Given the description of an element on the screen output the (x, y) to click on. 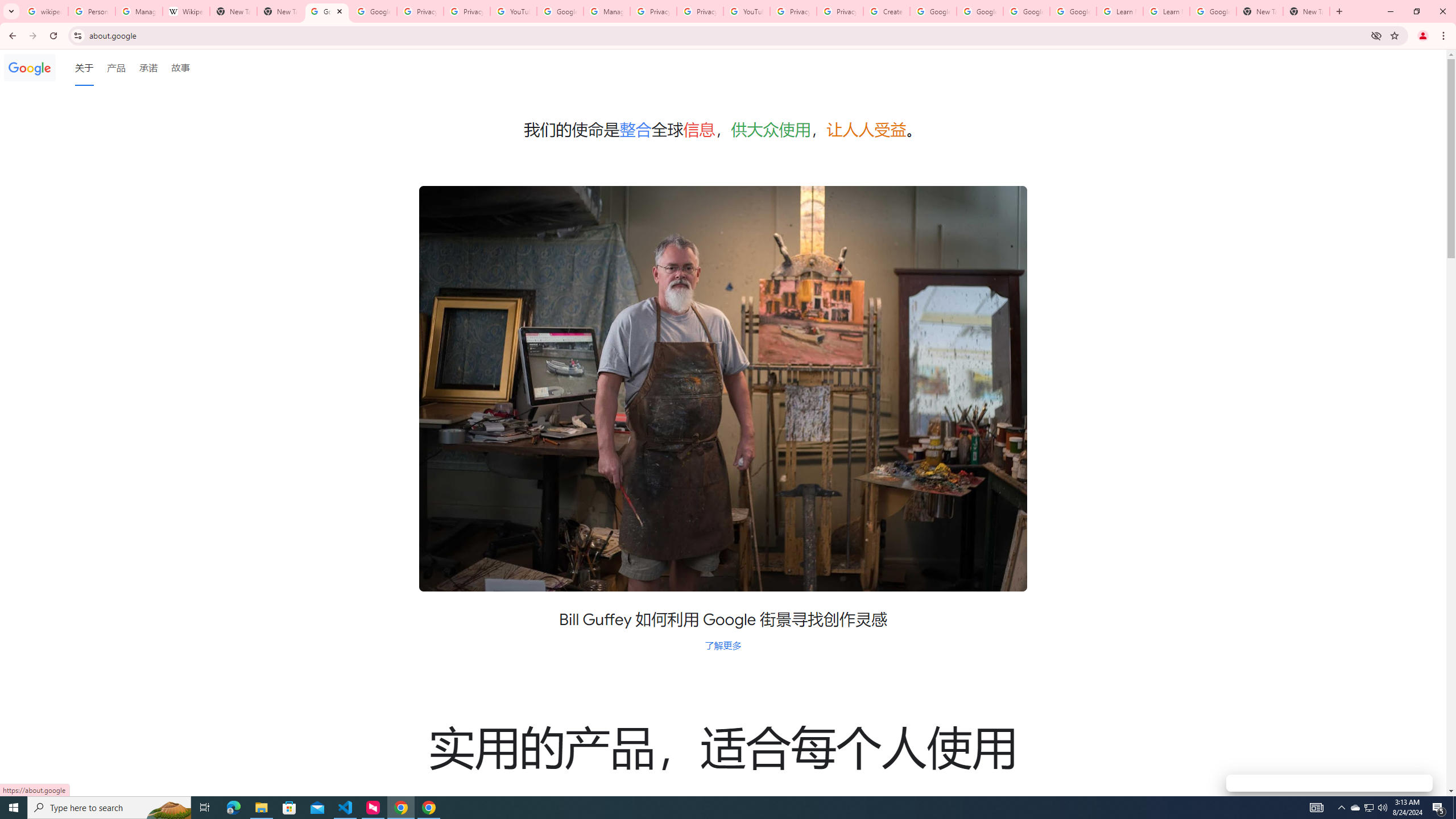
Google Account Help (980, 11)
Google Account Help (1073, 11)
Google Drive: Sign-in (373, 11)
Google Account Help (559, 11)
Manage your Location History - Google Search Help (138, 11)
